Given the description of an element on the screen output the (x, y) to click on. 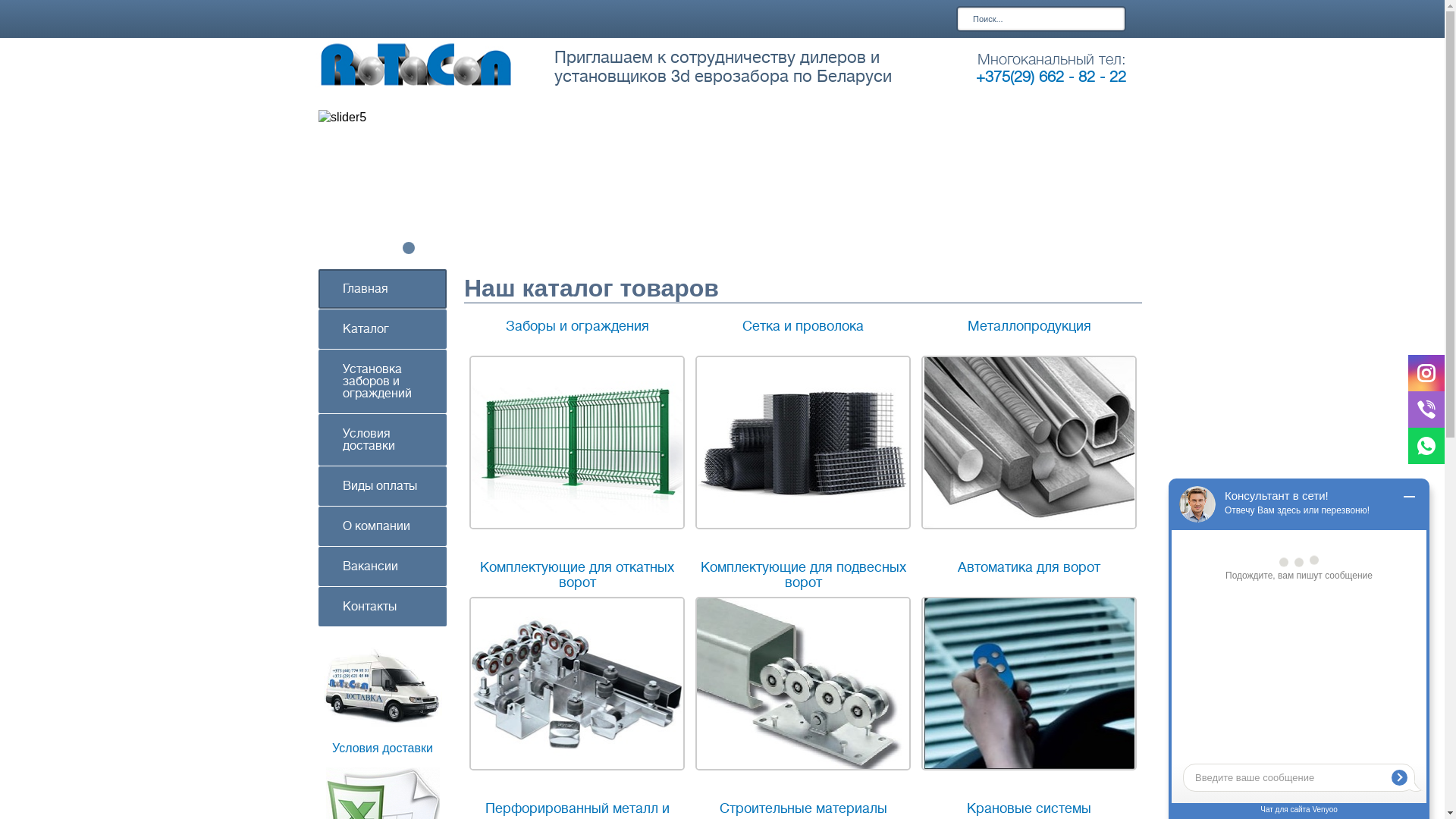
+375(29) 662 - 82 - 22 Element type: text (1050, 76)
